Given the description of an element on the screen output the (x, y) to click on. 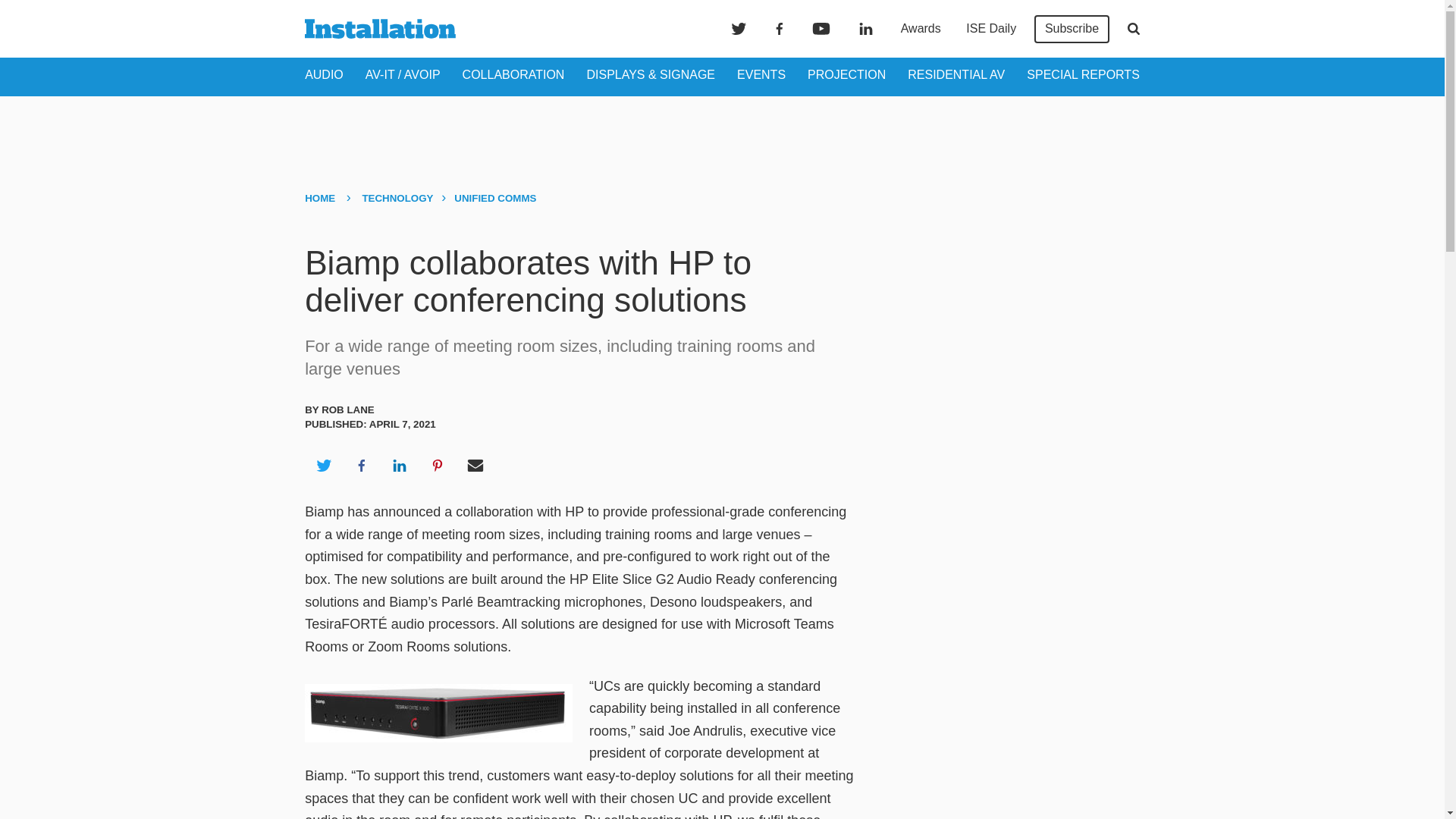
Share via Email (476, 465)
Subscribe (1071, 29)
Share on Twitter (323, 465)
Share on LinkedIn (399, 465)
Share on Facebook (361, 465)
AUDIO (323, 74)
Awards (921, 29)
ISE Daily (990, 29)
Rob Lane's Author Profile (347, 409)
COLLABORATION (513, 74)
Share on Pinterest (438, 465)
